Given the description of an element on the screen output the (x, y) to click on. 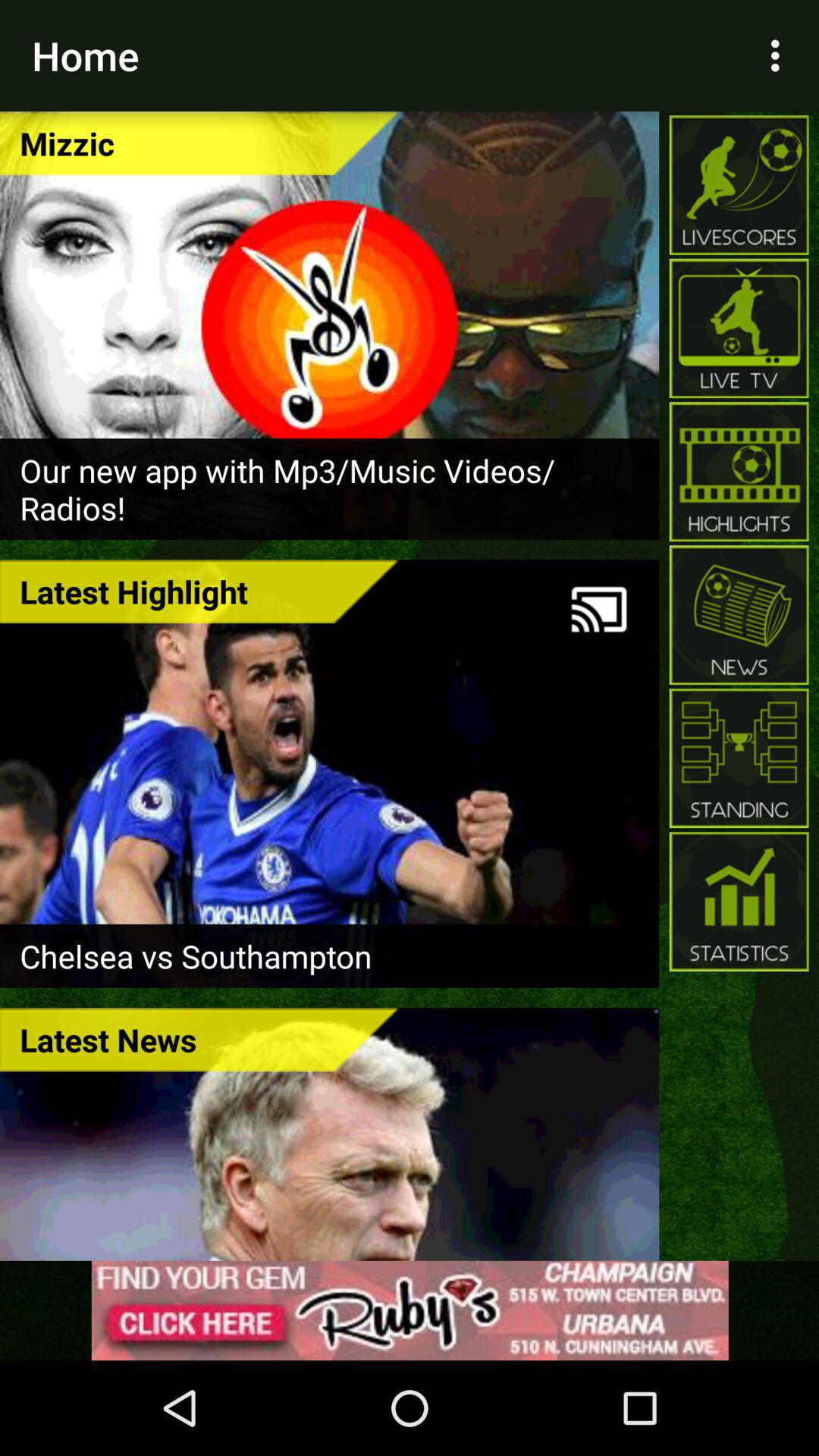
select the icon below home icon (199, 143)
